Given the description of an element on the screen output the (x, y) to click on. 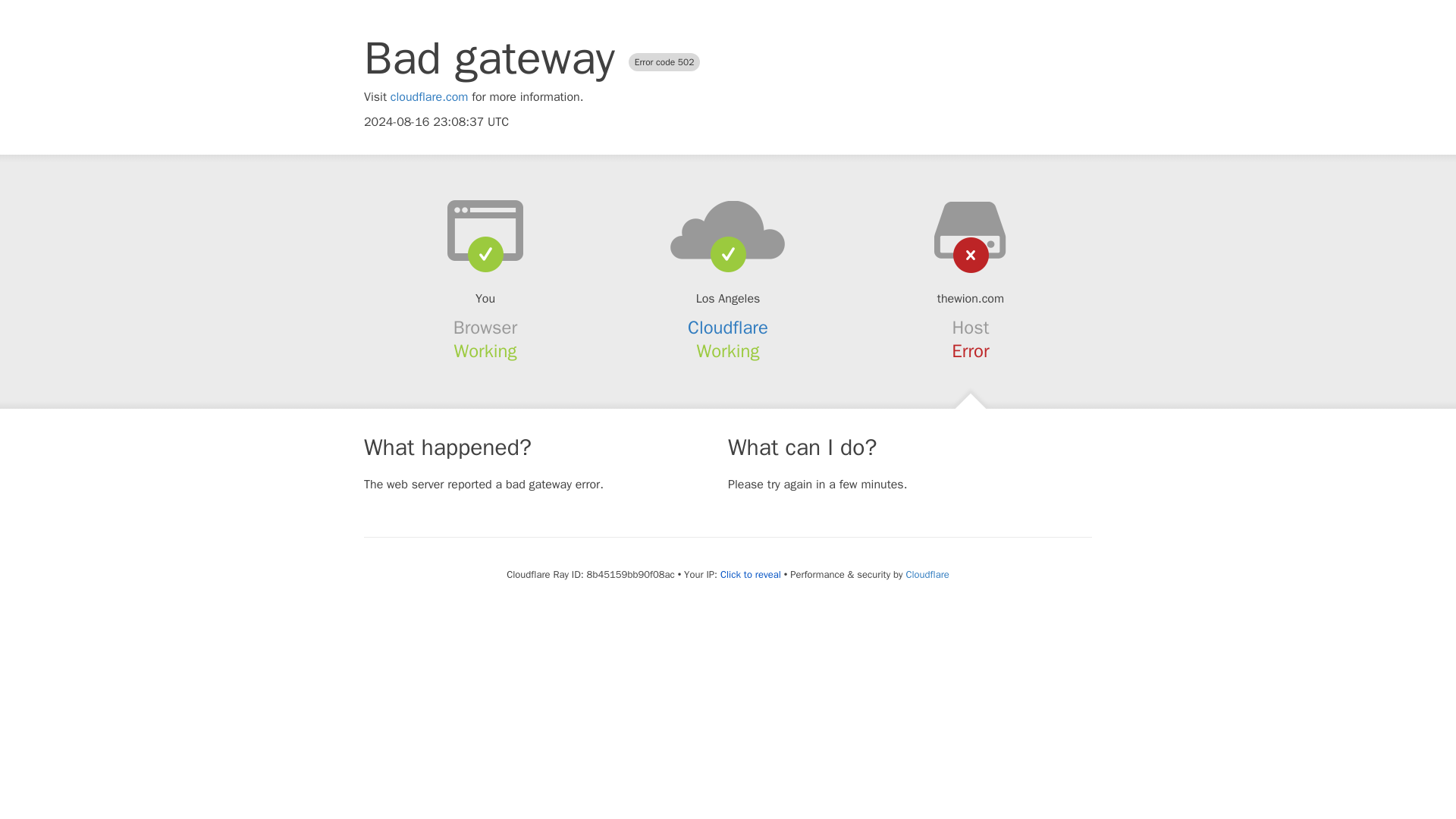
Click to reveal (750, 574)
Cloudflare (727, 327)
Cloudflare (927, 574)
cloudflare.com (429, 96)
